Given the description of an element on the screen output the (x, y) to click on. 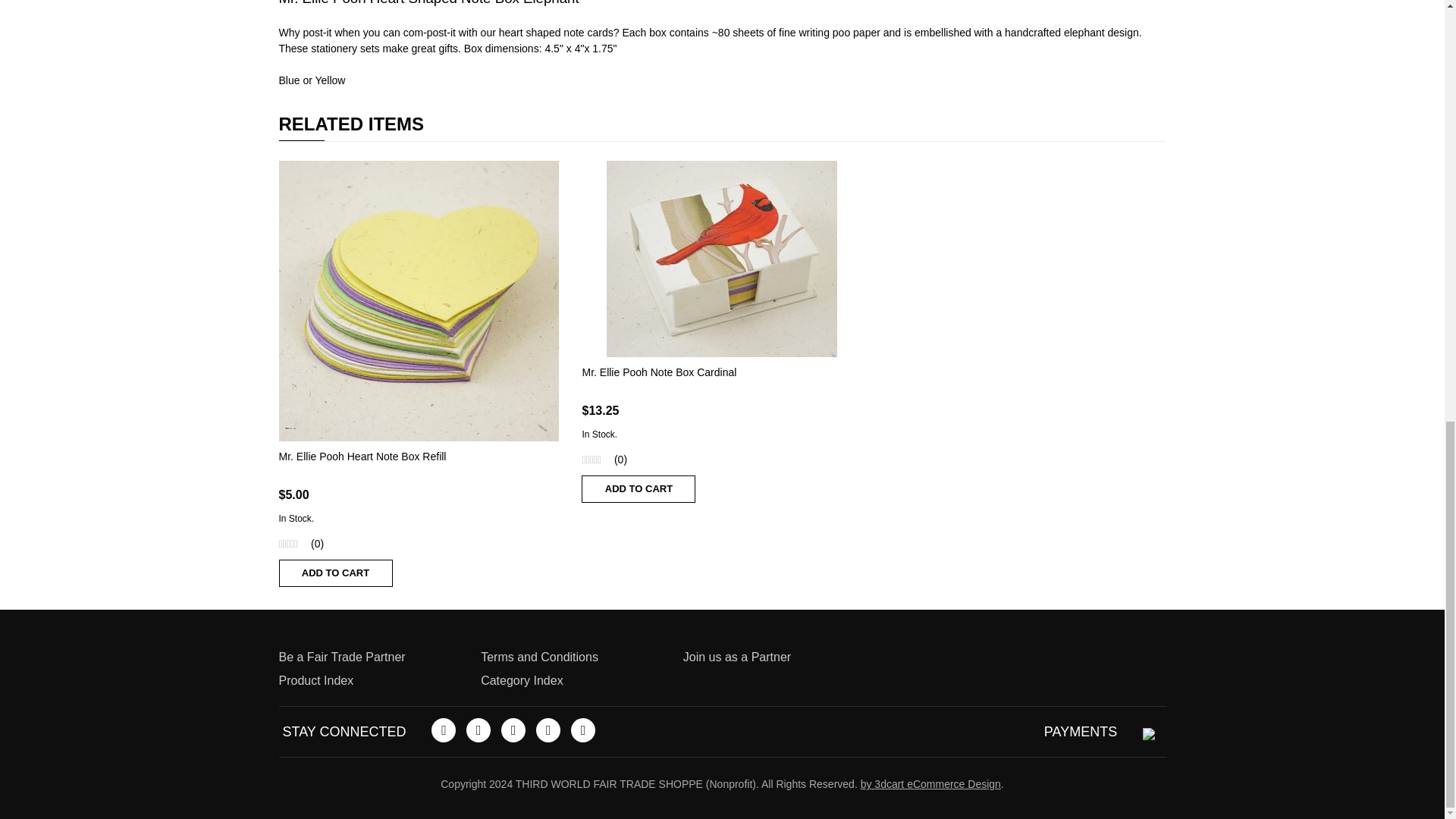
Follow Us on Twitter (477, 730)
Follow Us on Instagram (582, 730)
Subscribe to our Channel (512, 730)
Follow Us on Pinterest (547, 730)
Like Us on Facebook (442, 730)
